Given the description of an element on the screen output the (x, y) to click on. 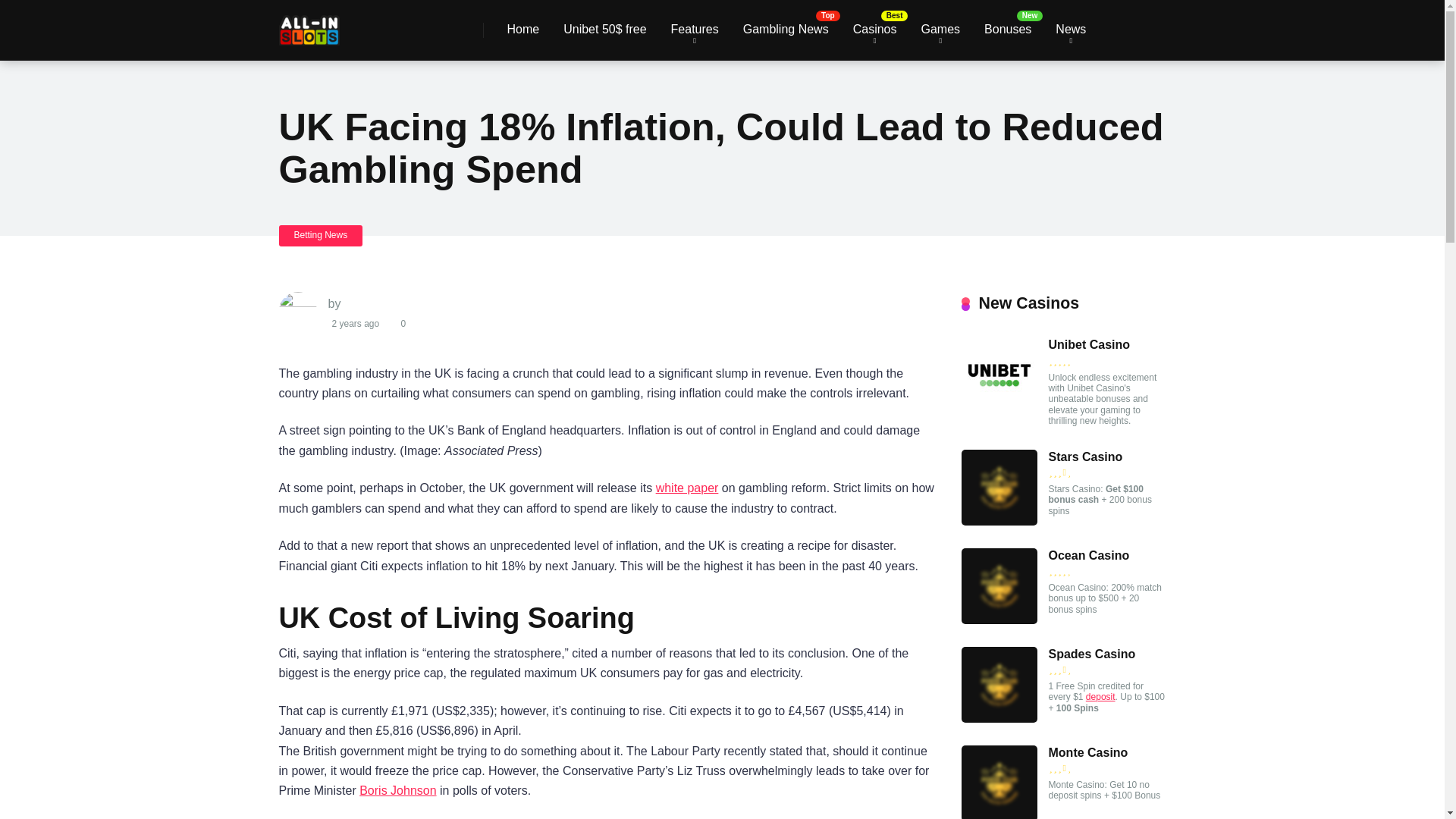
Home (523, 30)
Stars Casino (1085, 457)
Casinos (874, 30)
News (1070, 30)
Spades Casino (998, 717)
Spades Casino (1091, 653)
Features (694, 30)
Gambling News (785, 30)
Unibet Casino (1088, 345)
Boris Johnson (397, 789)
Betting News (320, 235)
Ocean Casino (998, 619)
Stars Casino (998, 521)
Ocean Casino (1088, 555)
Games (940, 30)
